Given the description of an element on the screen output the (x, y) to click on. 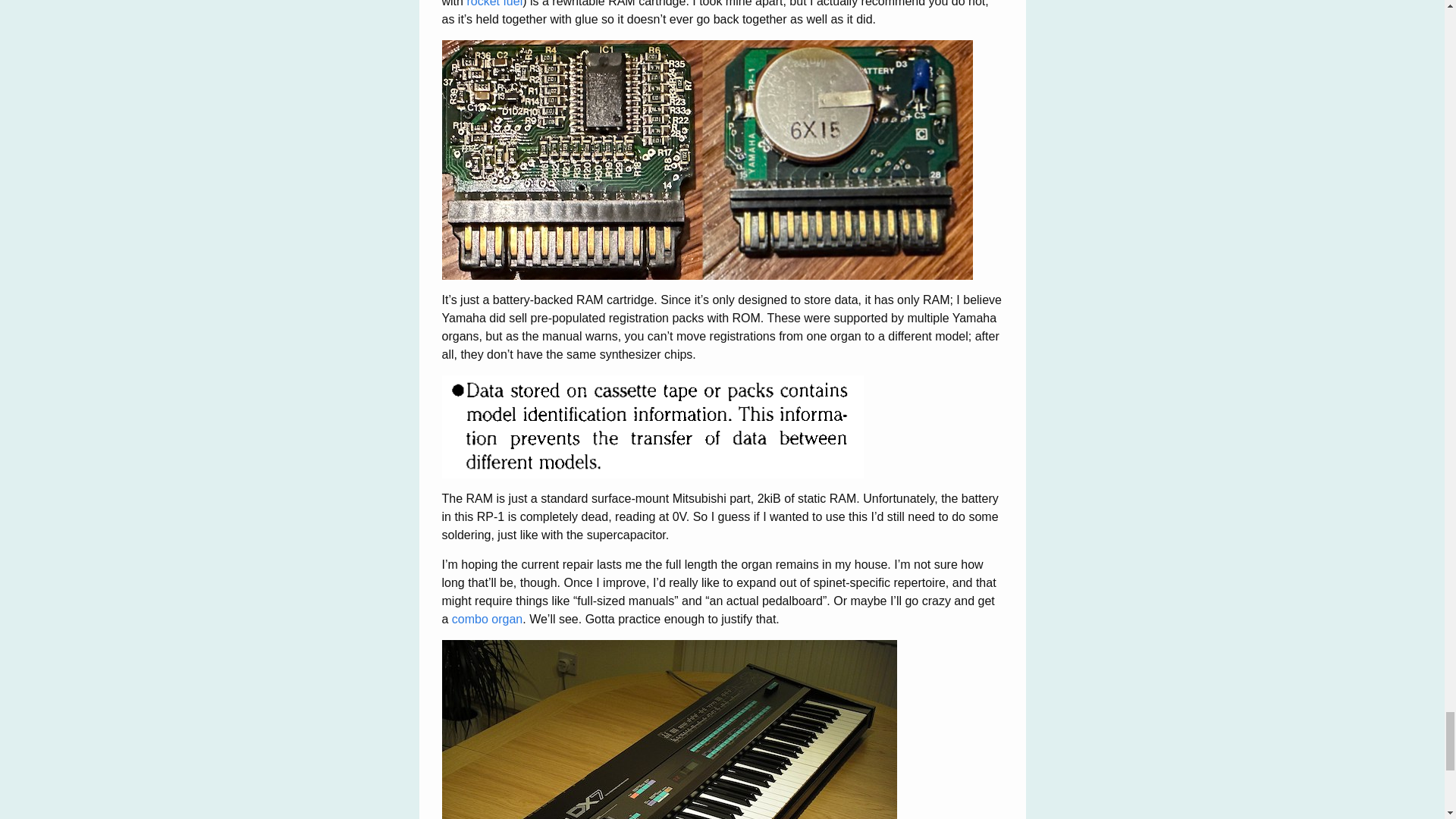
legend of zelda, for electone me-50 (706, 160)
rocket fuel (493, 3)
combo organ (486, 618)
